Given the description of an element on the screen output the (x, y) to click on. 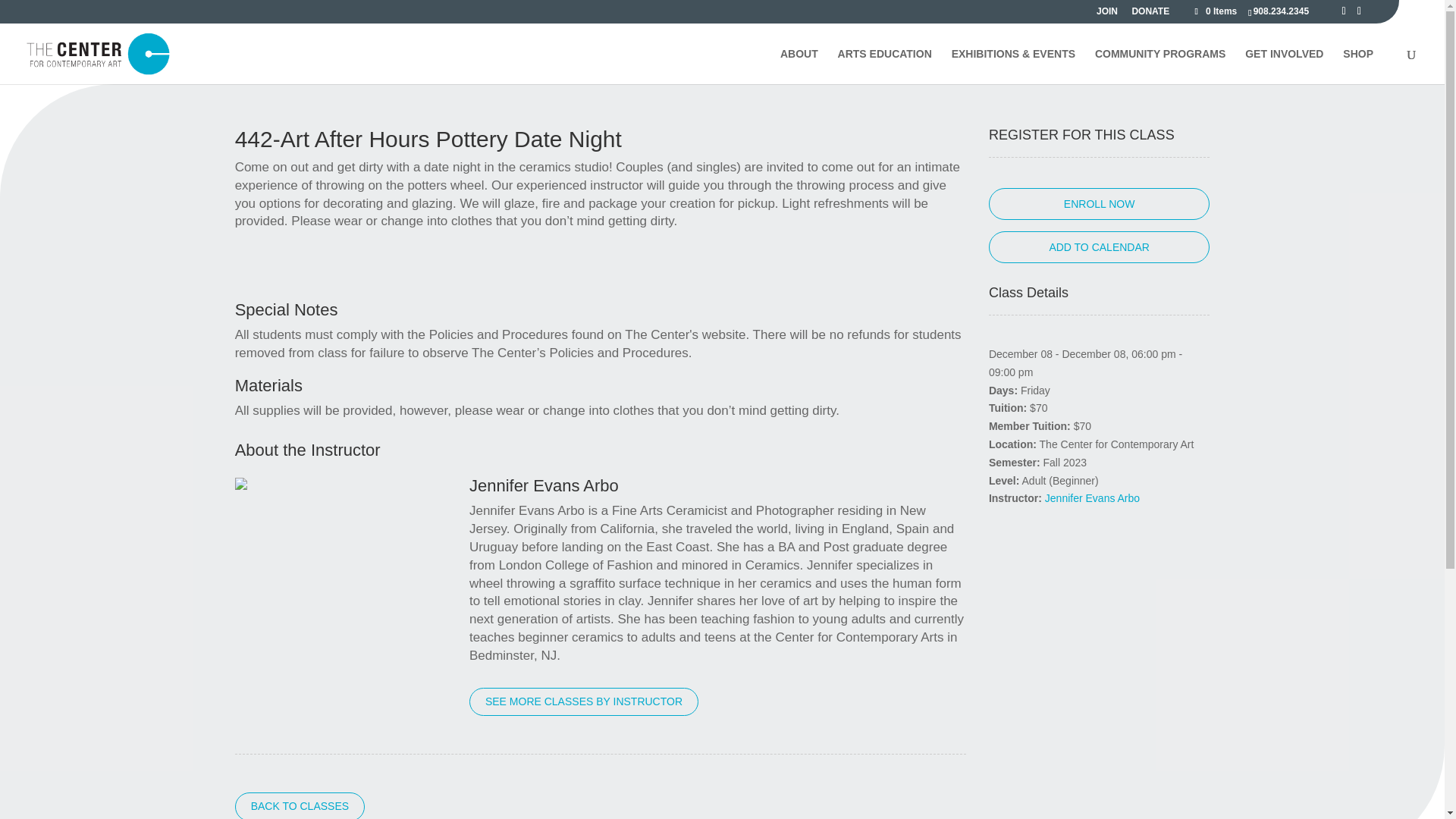
Add to Calendar (1098, 246)
